Given the description of an element on the screen output the (x, y) to click on. 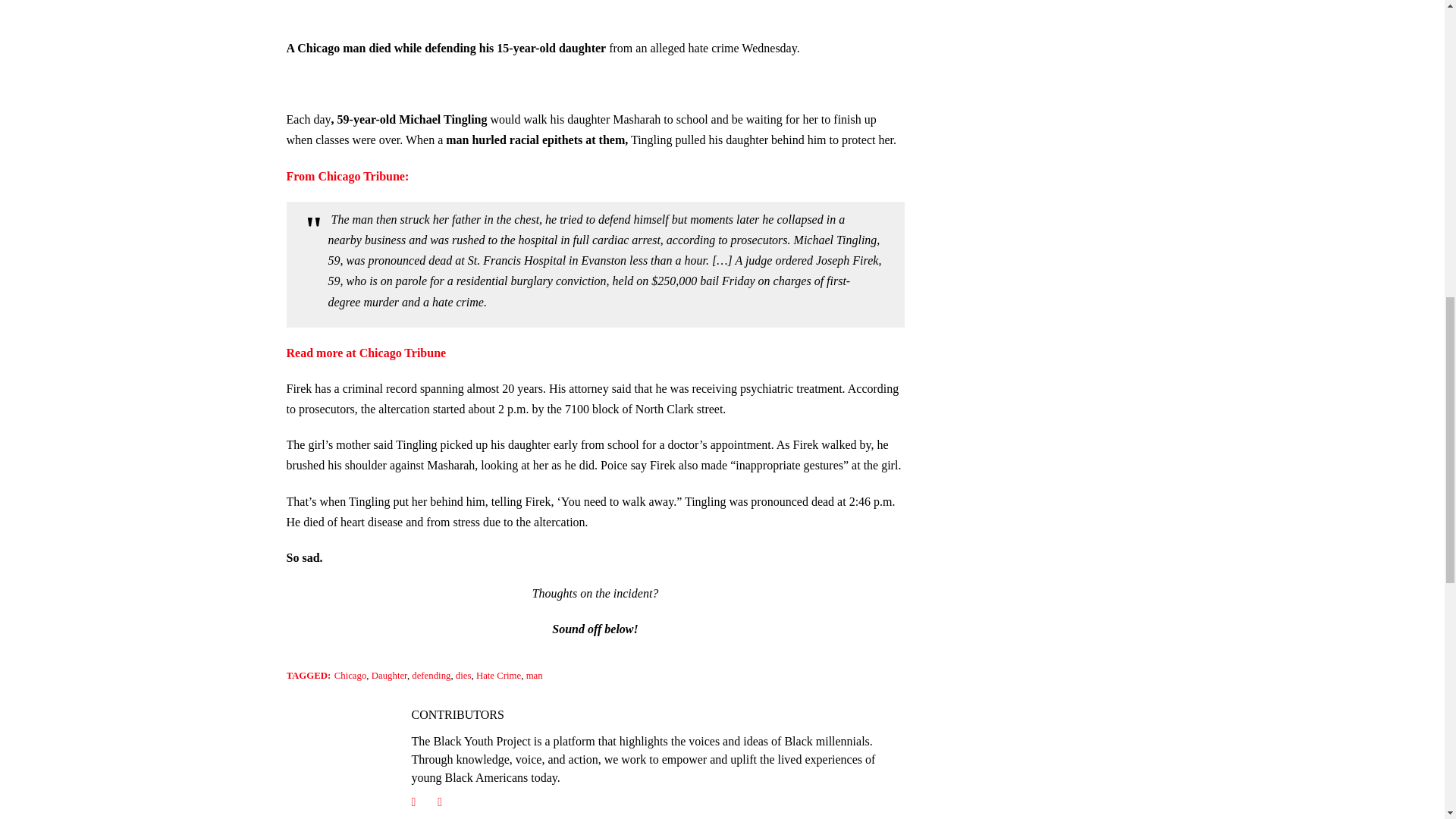
Chicago (350, 675)
man (534, 675)
CONTRIBUTORS (456, 714)
dies (463, 675)
Hate Crime (498, 675)
defending (430, 675)
Read more at Chicago Tribune (366, 352)
Posts by Contributors (456, 714)
From Chicago Tribune: (347, 175)
Daughter (389, 675)
